Given the description of an element on the screen output the (x, y) to click on. 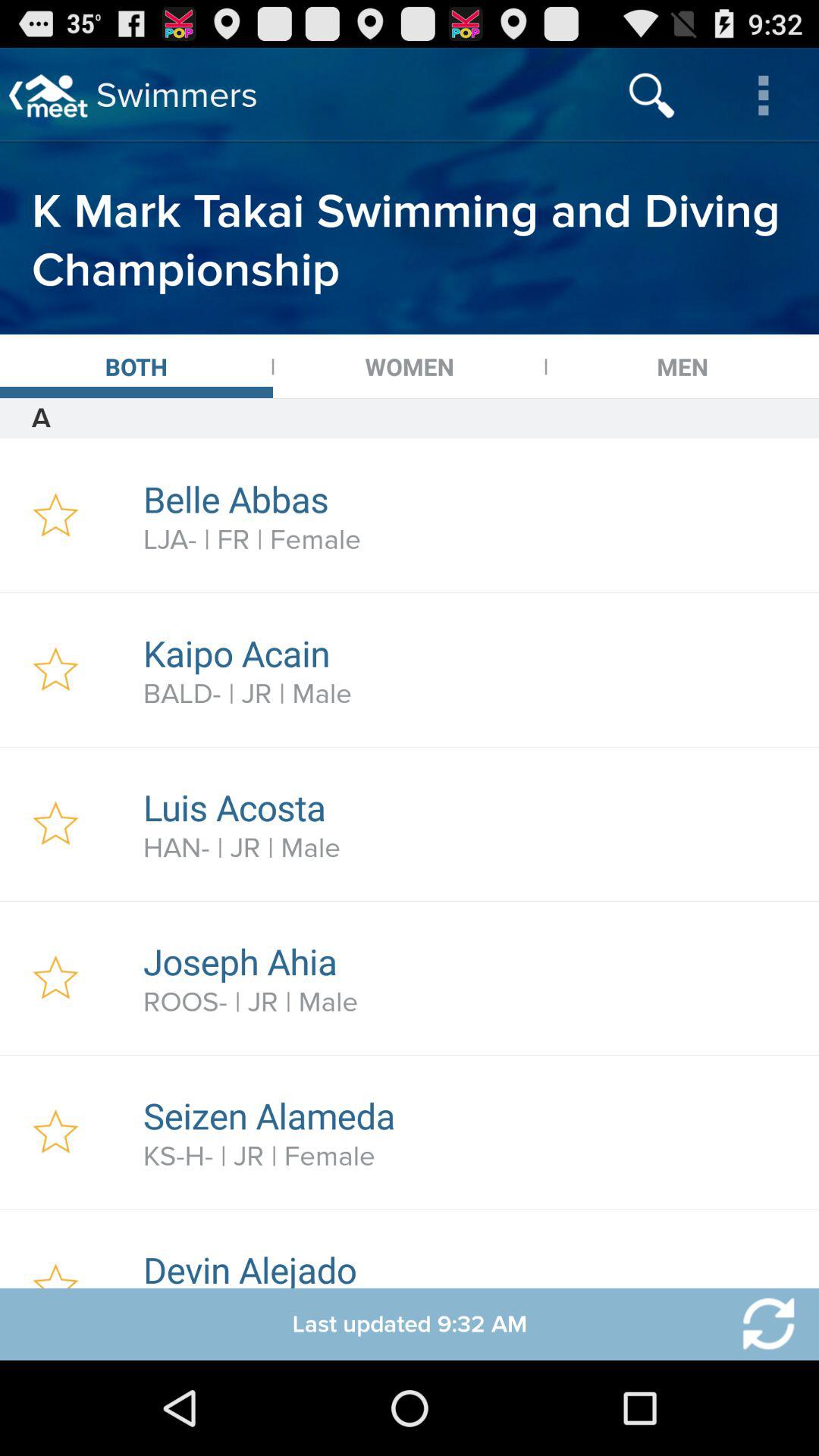
select item above devin alejado icon (473, 1156)
